Given the description of an element on the screen output the (x, y) to click on. 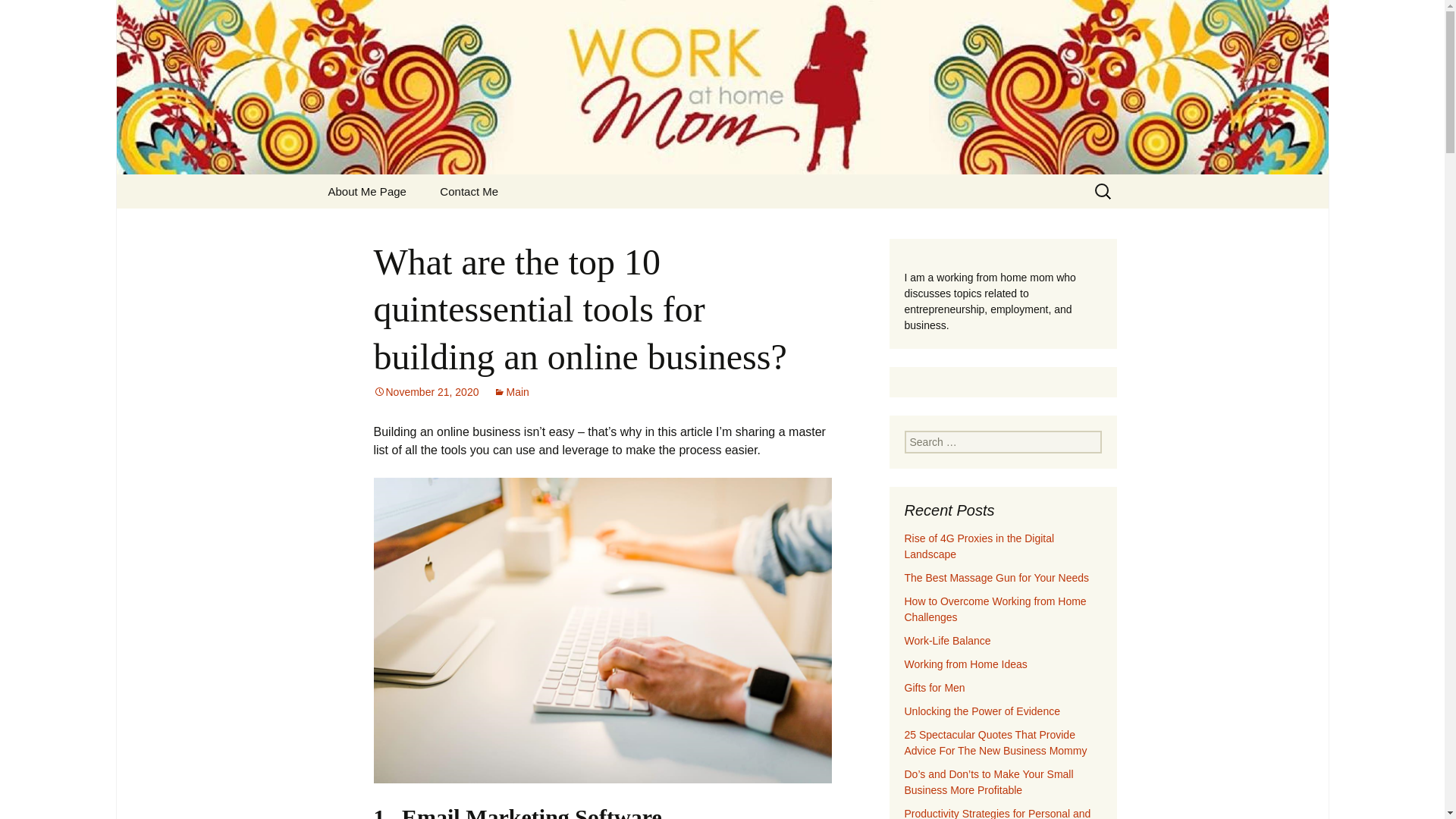
The Best Massage Gun for Your Needs (996, 577)
Work-Life Balance (947, 640)
Working from Home Ideas (965, 664)
Rise of 4G Proxies in the Digital Landscape (979, 546)
How to Overcome Working from Home Challenges (995, 609)
Main (510, 391)
About Me Page (366, 191)
